Given the description of an element on the screen output the (x, y) to click on. 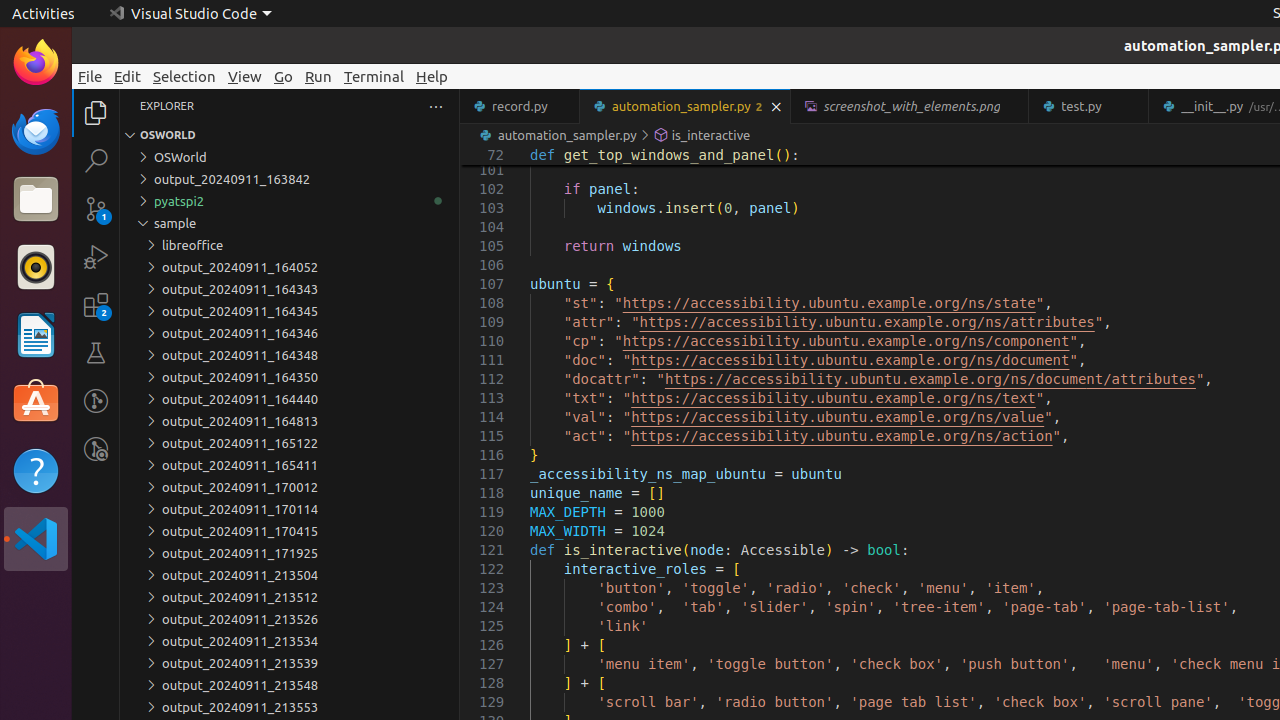
Terminal Element type: push-button (374, 76)
output_20240911_164348 Element type: tree-item (289, 355)
GitLens Inspect Element type: page-tab (96, 449)
output_20240911_164813 Element type: tree-item (289, 421)
libreoffice Element type: tree-item (289, 245)
